Given the description of an element on the screen output the (x, y) to click on. 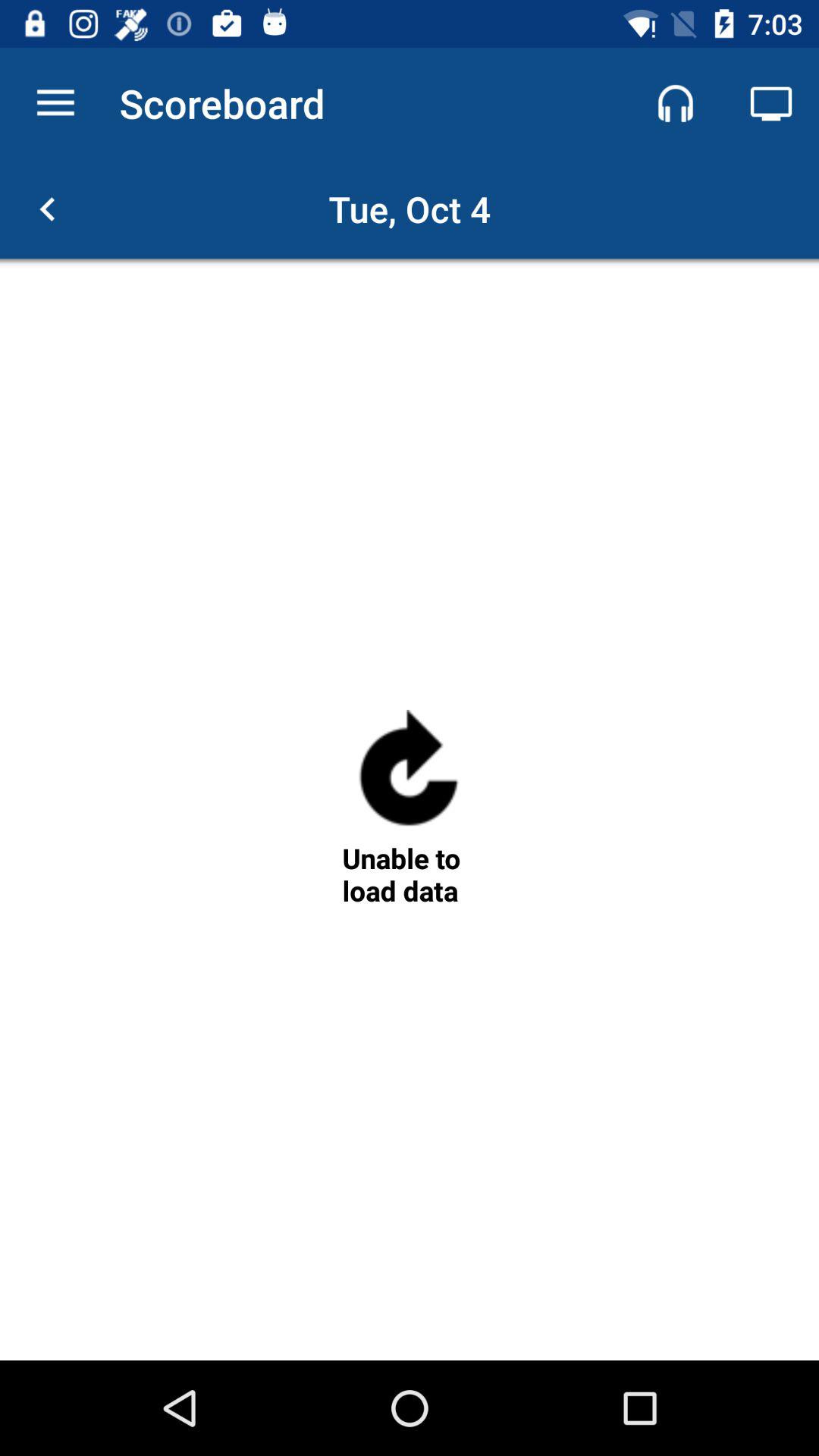
turn on the app to the right of the scoreboard item (675, 103)
